Given the description of an element on the screen output the (x, y) to click on. 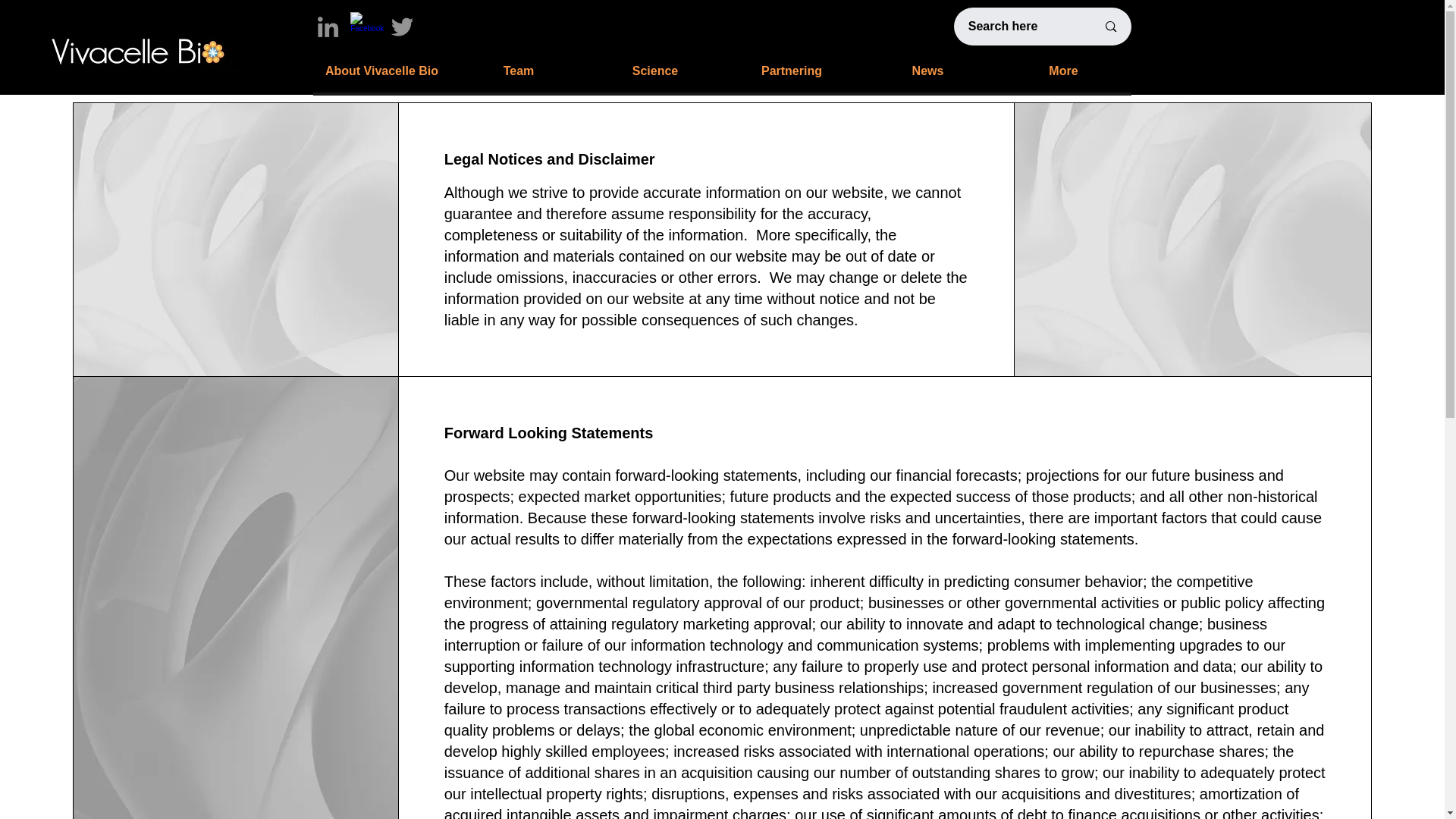
News (926, 70)
Partnering (790, 70)
Team (517, 70)
Science (654, 70)
About Vivacelle Bio (381, 70)
